Given the description of an element on the screen output the (x, y) to click on. 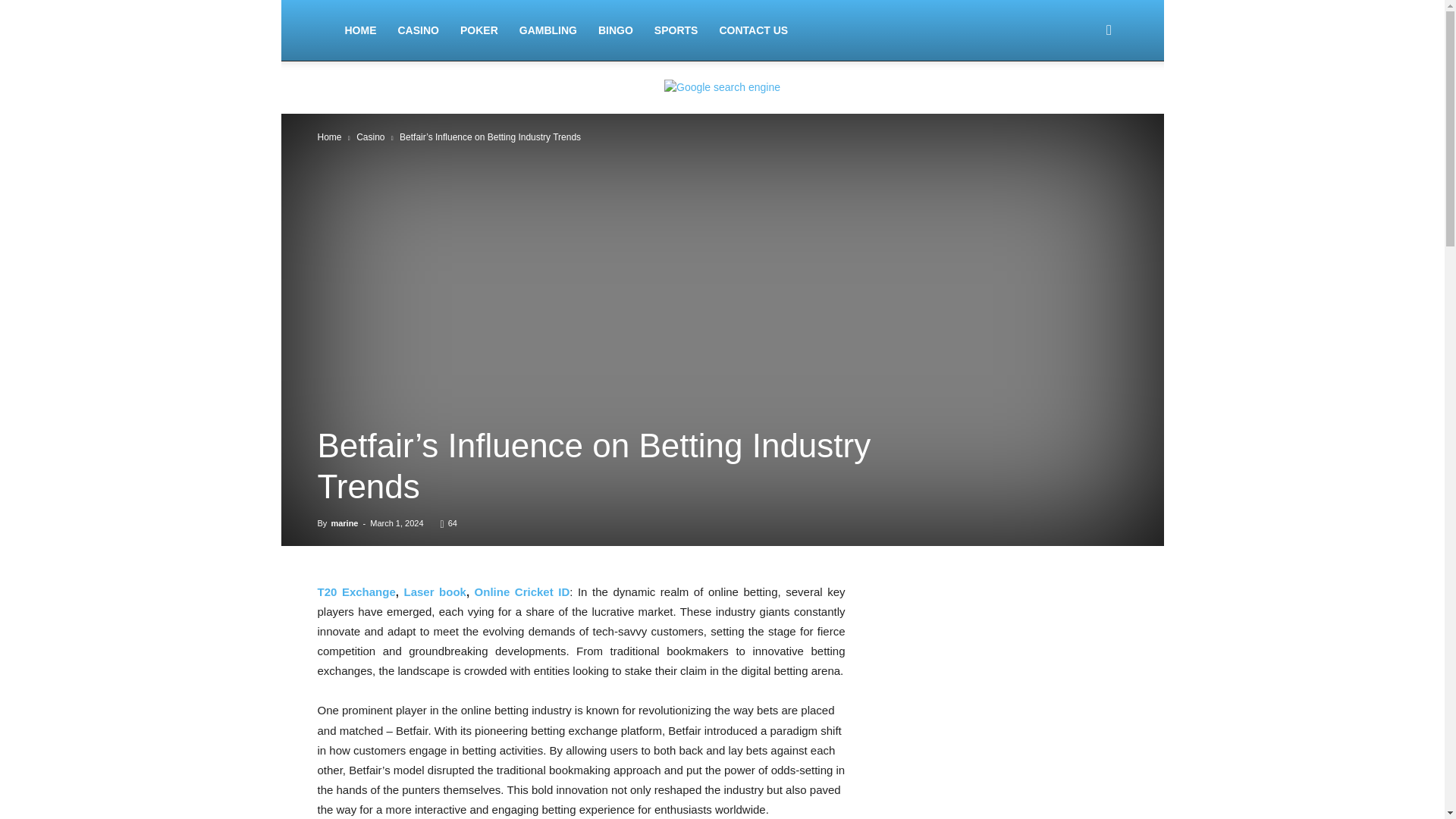
Home (328, 136)
Laser book (434, 591)
Search (1085, 102)
My Blog (325, 30)
BINGO (615, 30)
GAMBLING (548, 30)
marine (344, 522)
CASINO (417, 30)
CONTACT US (752, 30)
View all posts in Casino (370, 136)
